Given the description of an element on the screen output the (x, y) to click on. 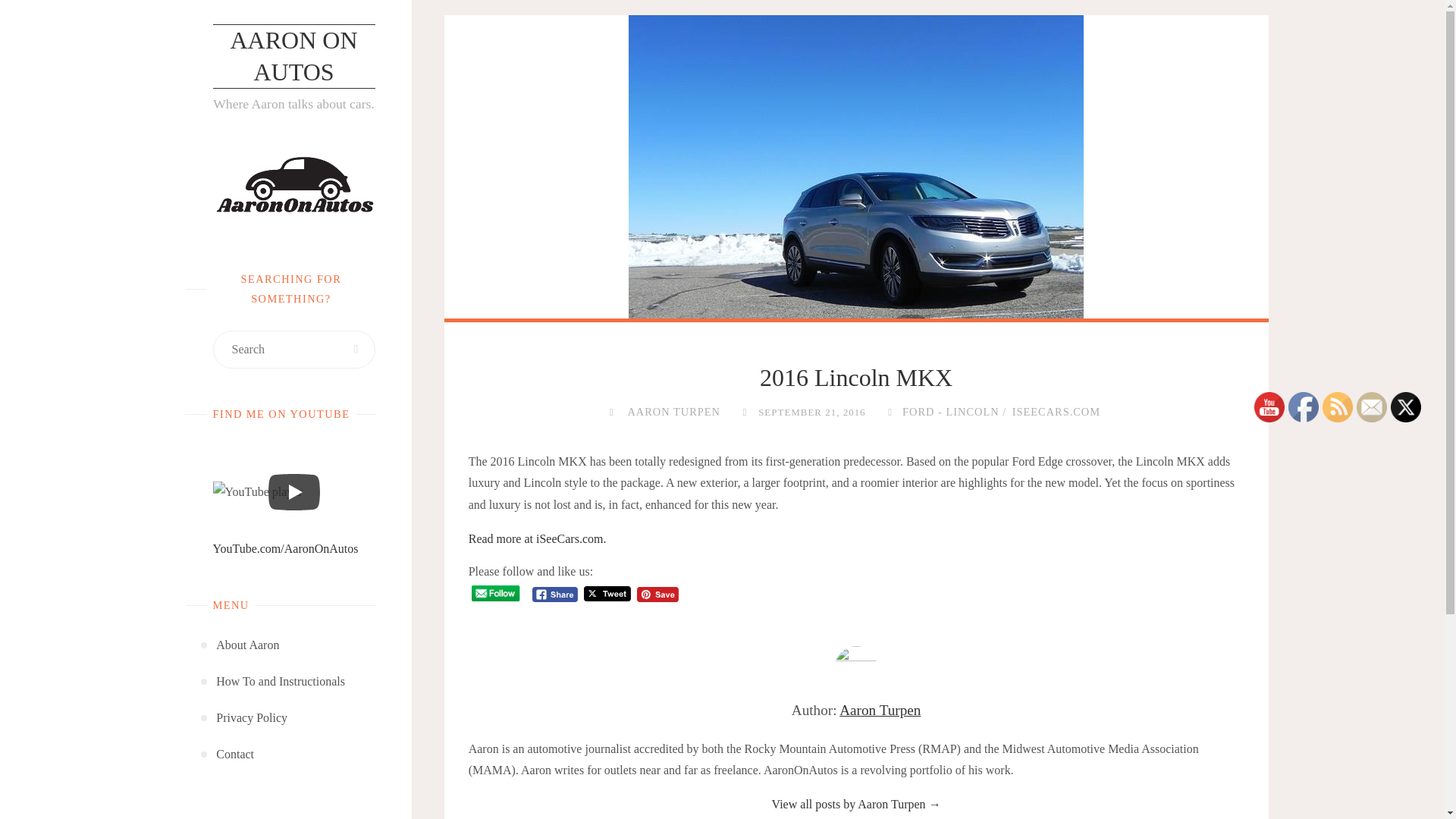
View all posts by Aaron Turpen (673, 411)
Pin Share (657, 594)
Author (611, 411)
About Aaron (247, 645)
Read more at iSeeCars.com. (537, 538)
AARON ON AUTOS (293, 56)
AARON TURPEN (673, 411)
Privacy Policy (250, 718)
Tweet (606, 593)
